Given the description of an element on the screen output the (x, y) to click on. 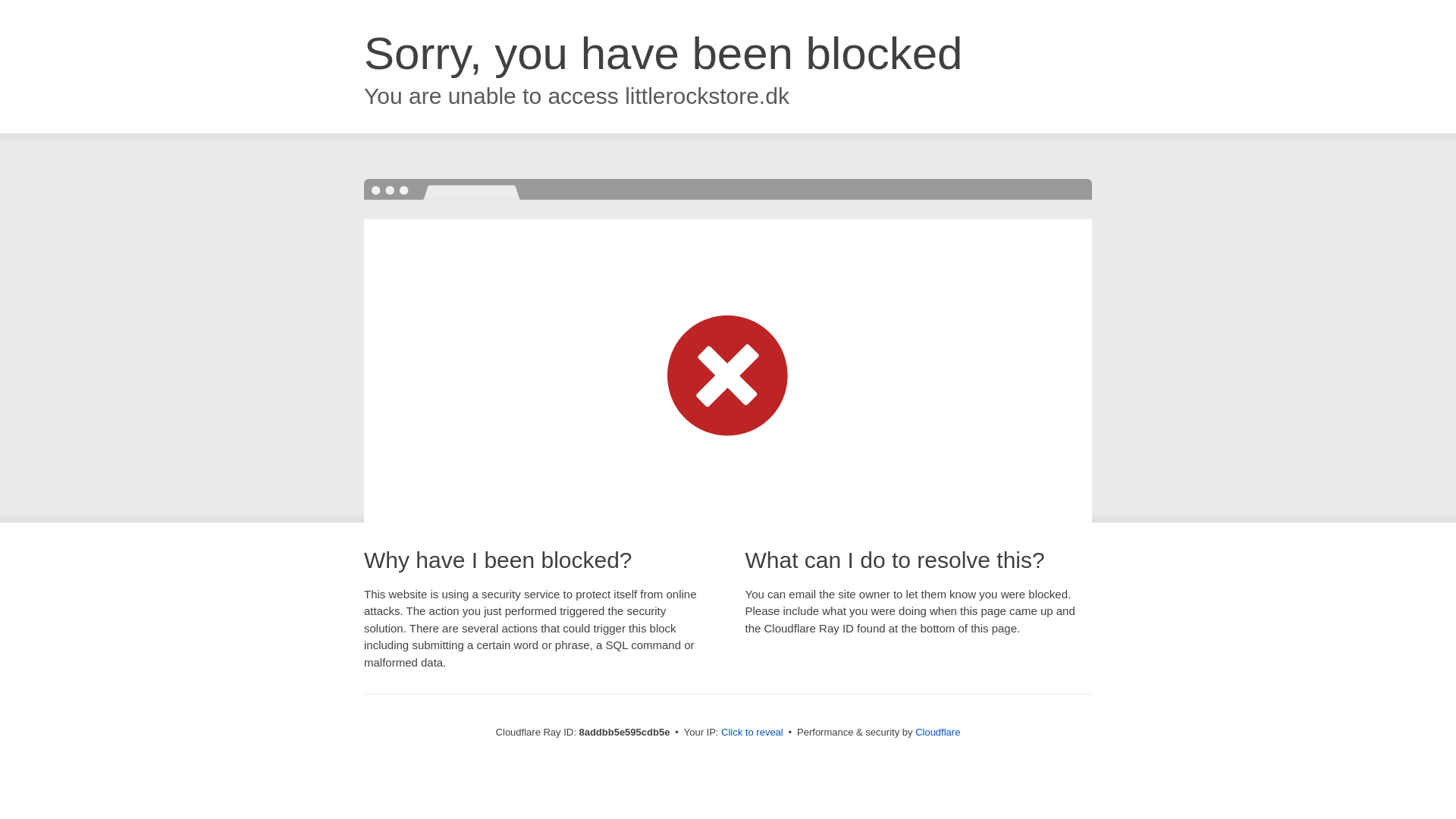
Click to reveal (751, 732)
Cloudflare (937, 731)
